Given the description of an element on the screen output the (x, y) to click on. 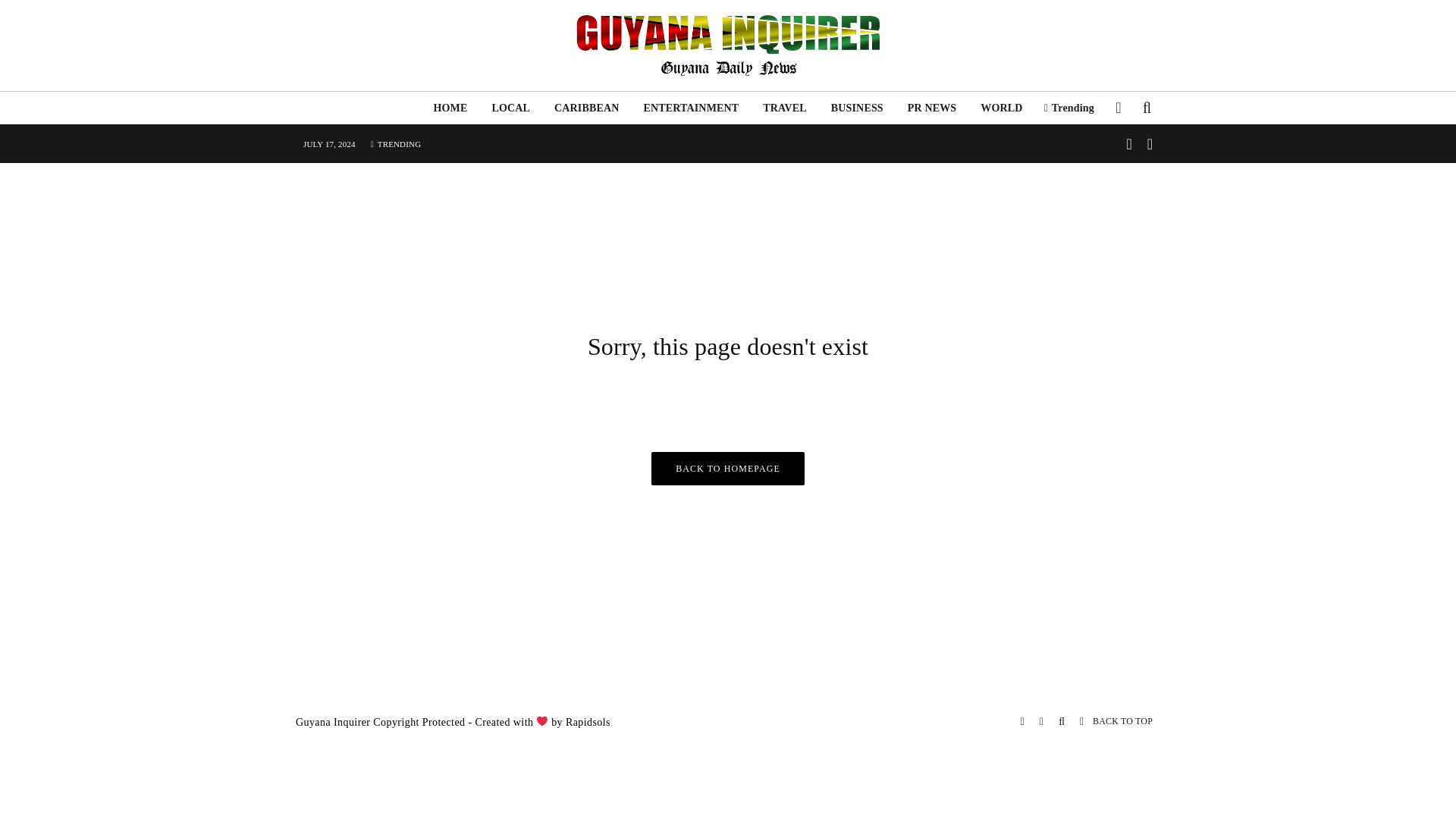
HOME (449, 107)
TRAVEL (784, 107)
CARIBBEAN (585, 107)
LOCAL (510, 107)
ENTERTAINMENT (690, 107)
